Given the description of an element on the screen output the (x, y) to click on. 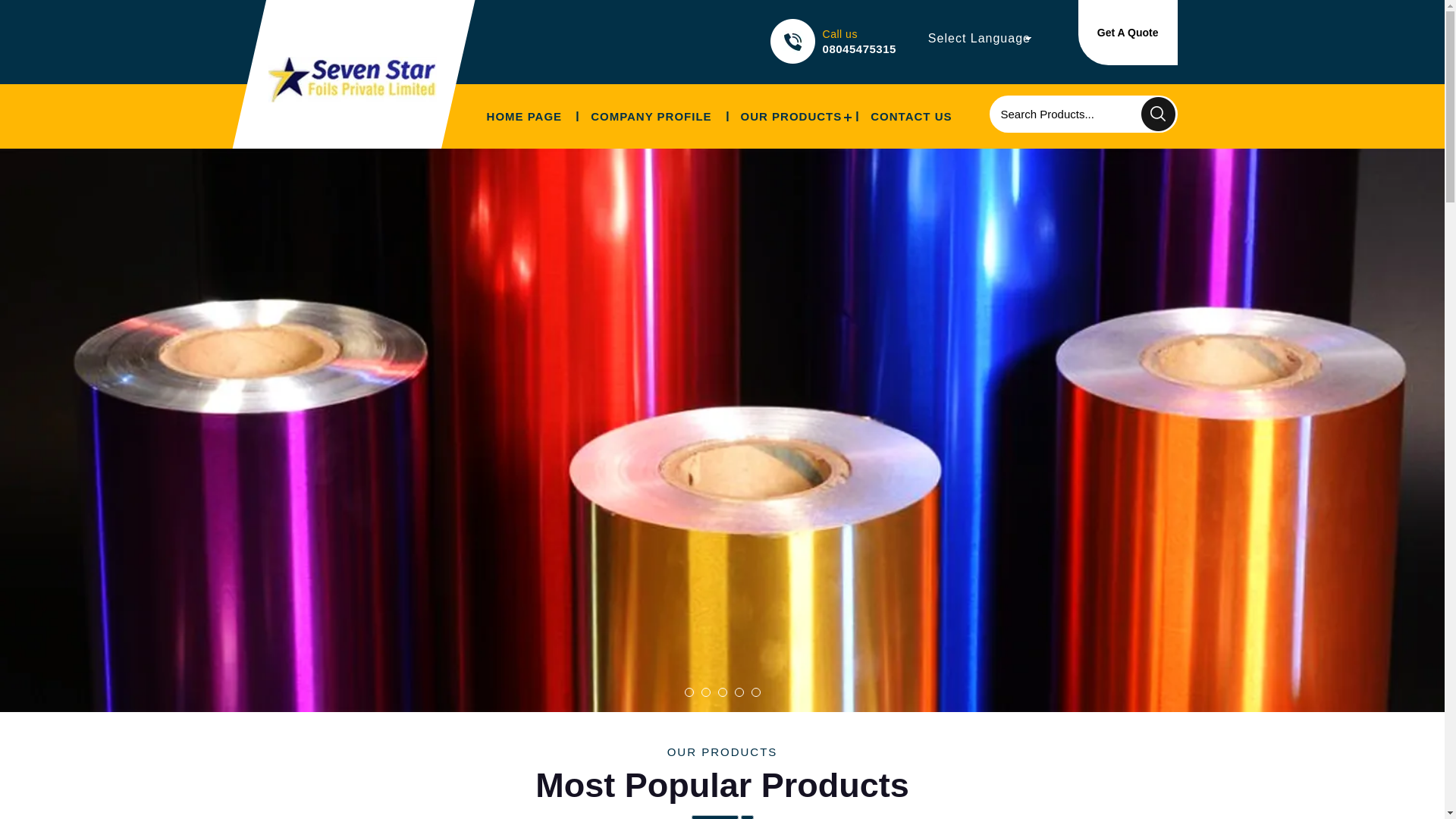
Get A Quote (1127, 32)
CONTACT US (911, 116)
Seven Star Foils Private Limited (351, 79)
HOME PAGE (523, 116)
Search Products... (1064, 113)
COMPANY PROFILE (650, 116)
submit (1158, 113)
Select Language (979, 38)
3 (721, 691)
1 (688, 691)
